Given the description of an element on the screen output the (x, y) to click on. 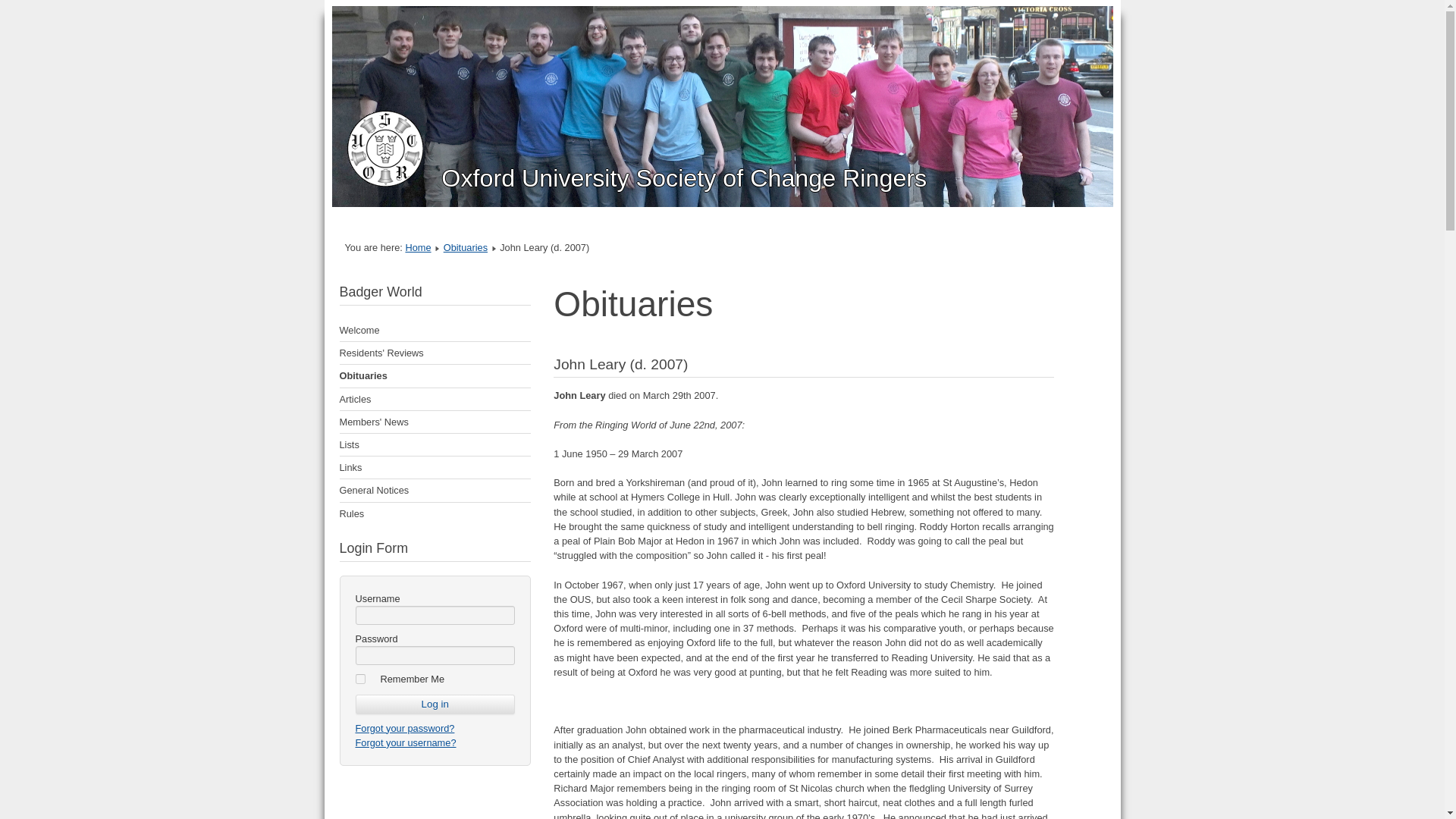
Residents' Reviews (435, 353)
Log in (435, 704)
Welcome (435, 330)
Articles (435, 399)
Log in (435, 704)
Obituaries (435, 375)
Rules (435, 513)
Members' News (435, 422)
yes (360, 678)
Home (417, 247)
Forgot your password? (404, 727)
Lists (435, 445)
Forgot your username? (405, 742)
Links (435, 467)
Obituaries (465, 247)
